Given the description of an element on the screen output the (x, y) to click on. 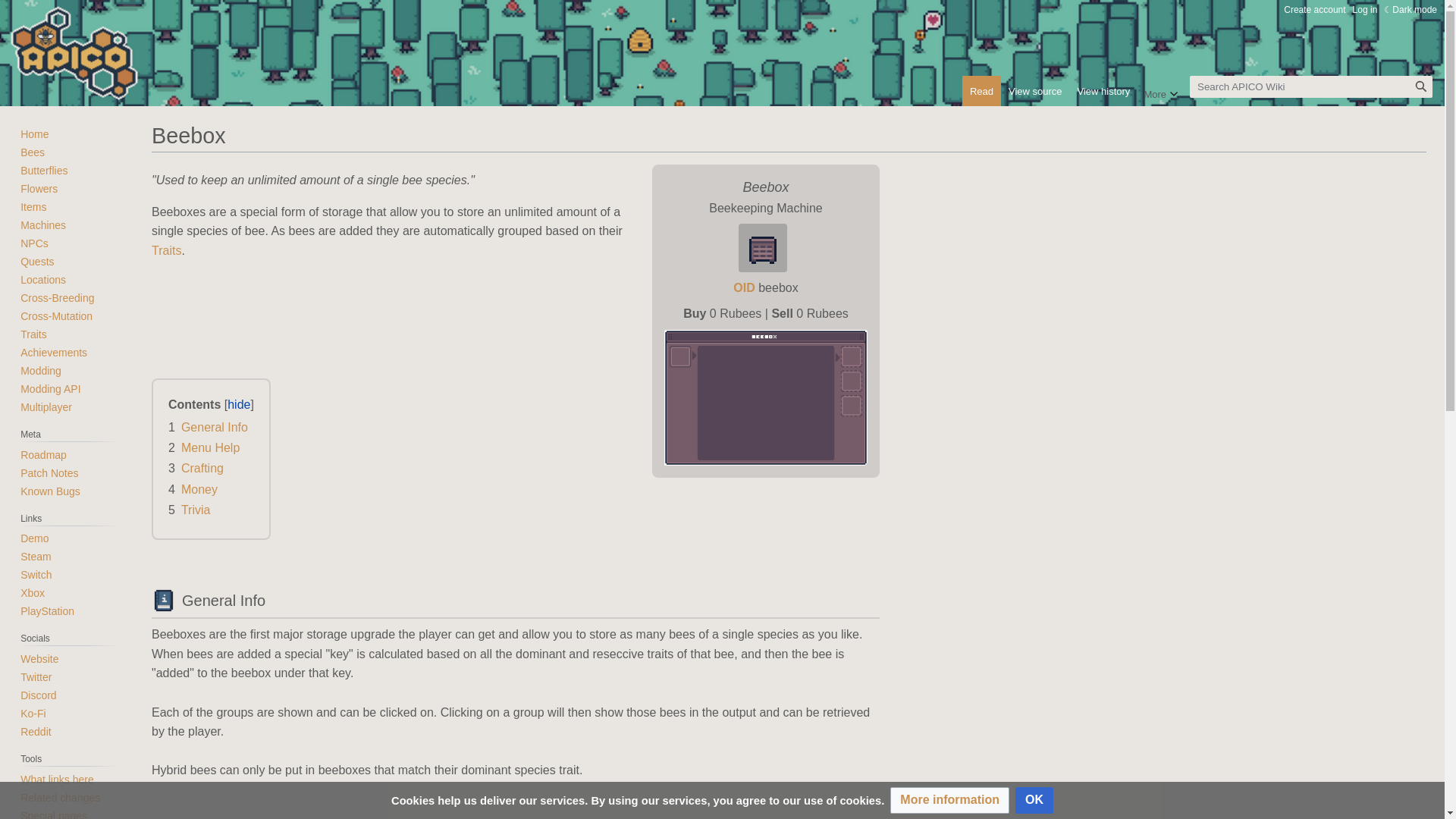
OID (743, 287)
Go (1420, 86)
Go (1420, 86)
Read (981, 91)
More options (1160, 91)
More information (949, 800)
View history (1104, 91)
5 Trivia (188, 509)
3 Crafting (196, 468)
Traits (165, 250)
OID Reference (743, 287)
Dark mode (1410, 9)
Log in (1364, 9)
Search (1420, 86)
